Given the description of an element on the screen output the (x, y) to click on. 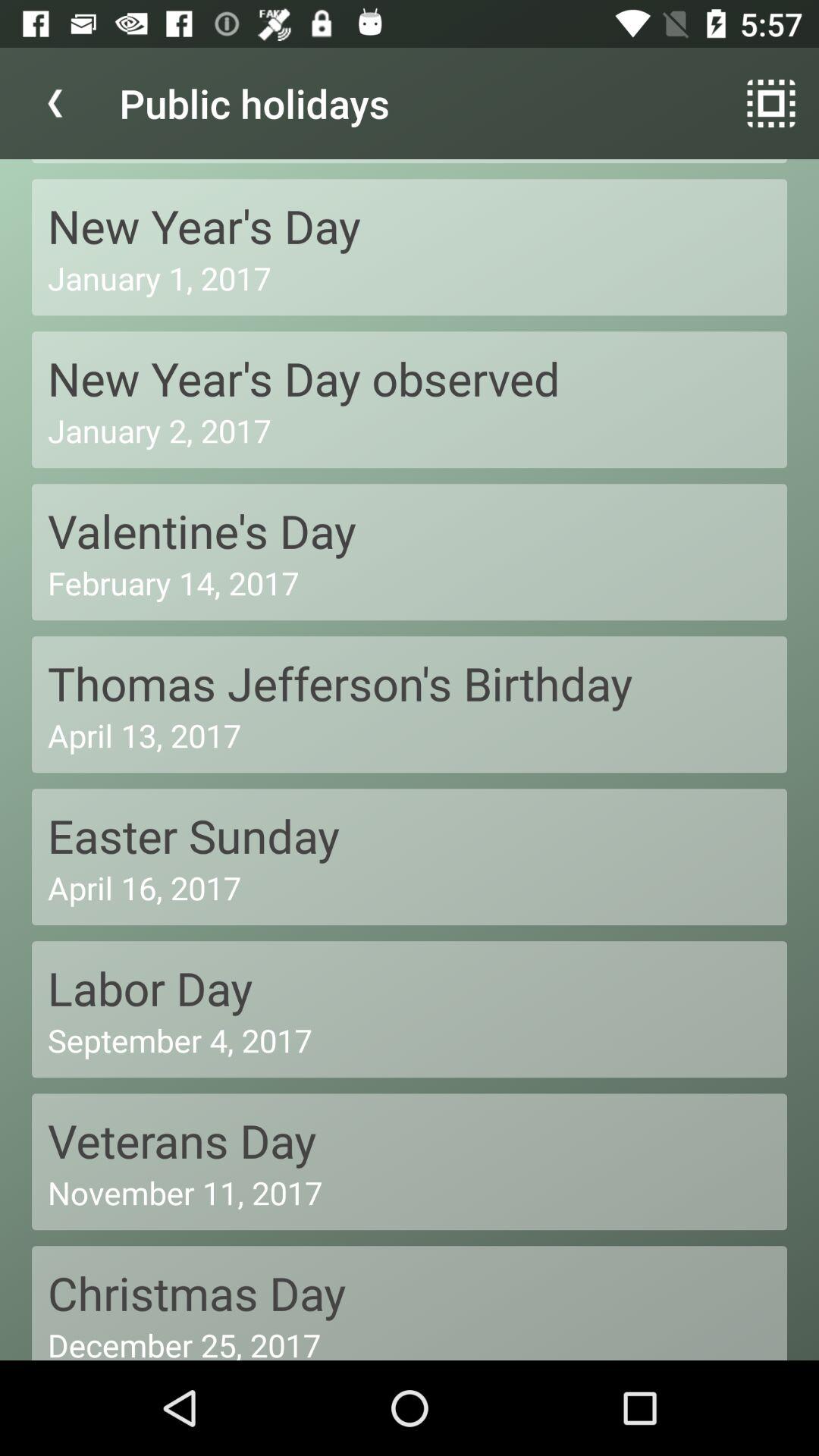
press november 11, 2017 icon (409, 1192)
